Given the description of an element on the screen output the (x, y) to click on. 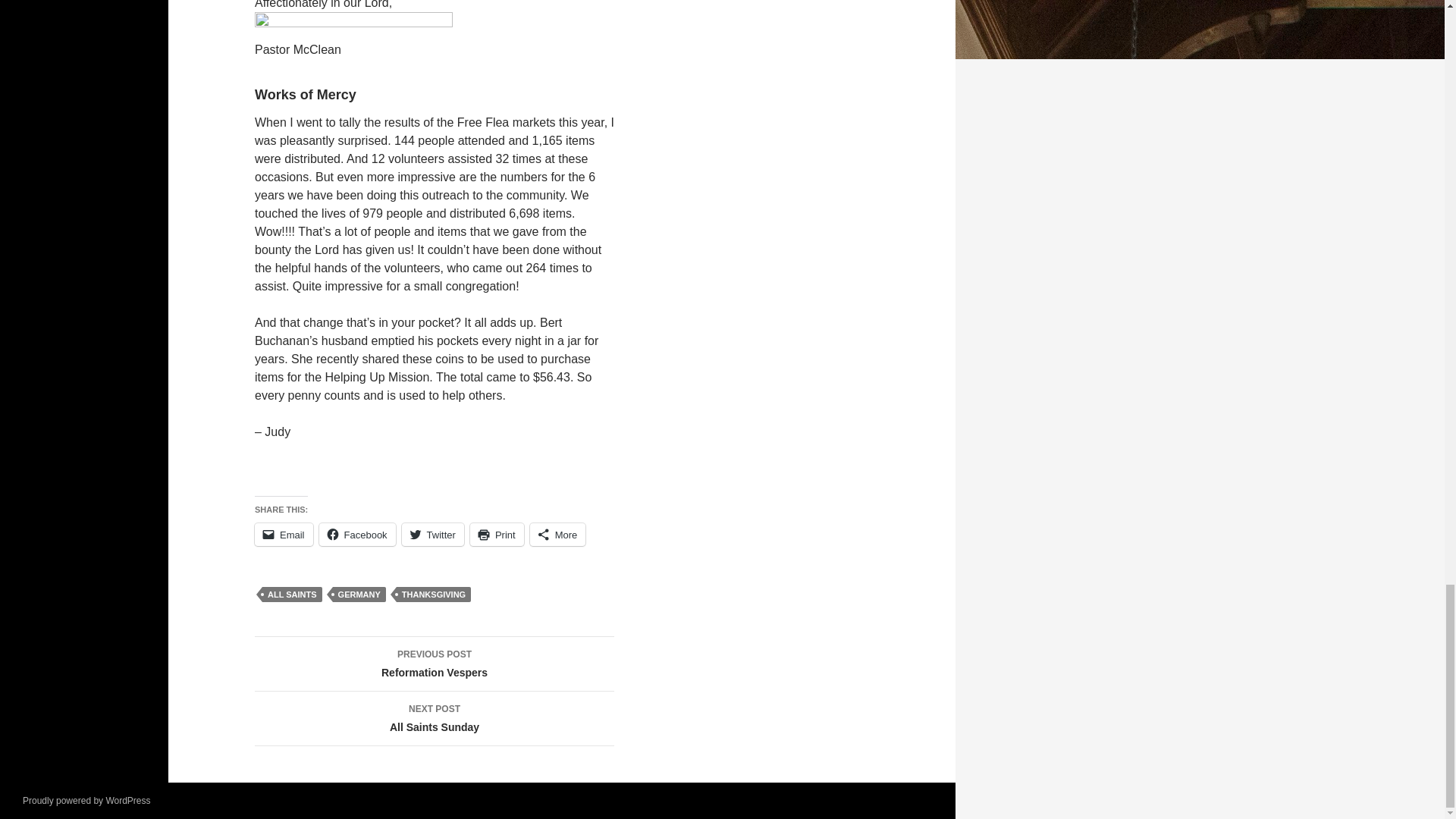
Email (283, 534)
Click to share on Facebook (357, 534)
Print (497, 534)
Click to share on Twitter (432, 534)
Click to email a link to a friend (283, 534)
Twitter (432, 534)
Click to print (497, 534)
More (557, 534)
Facebook (357, 534)
